Given the description of an element on the screen output the (x, y) to click on. 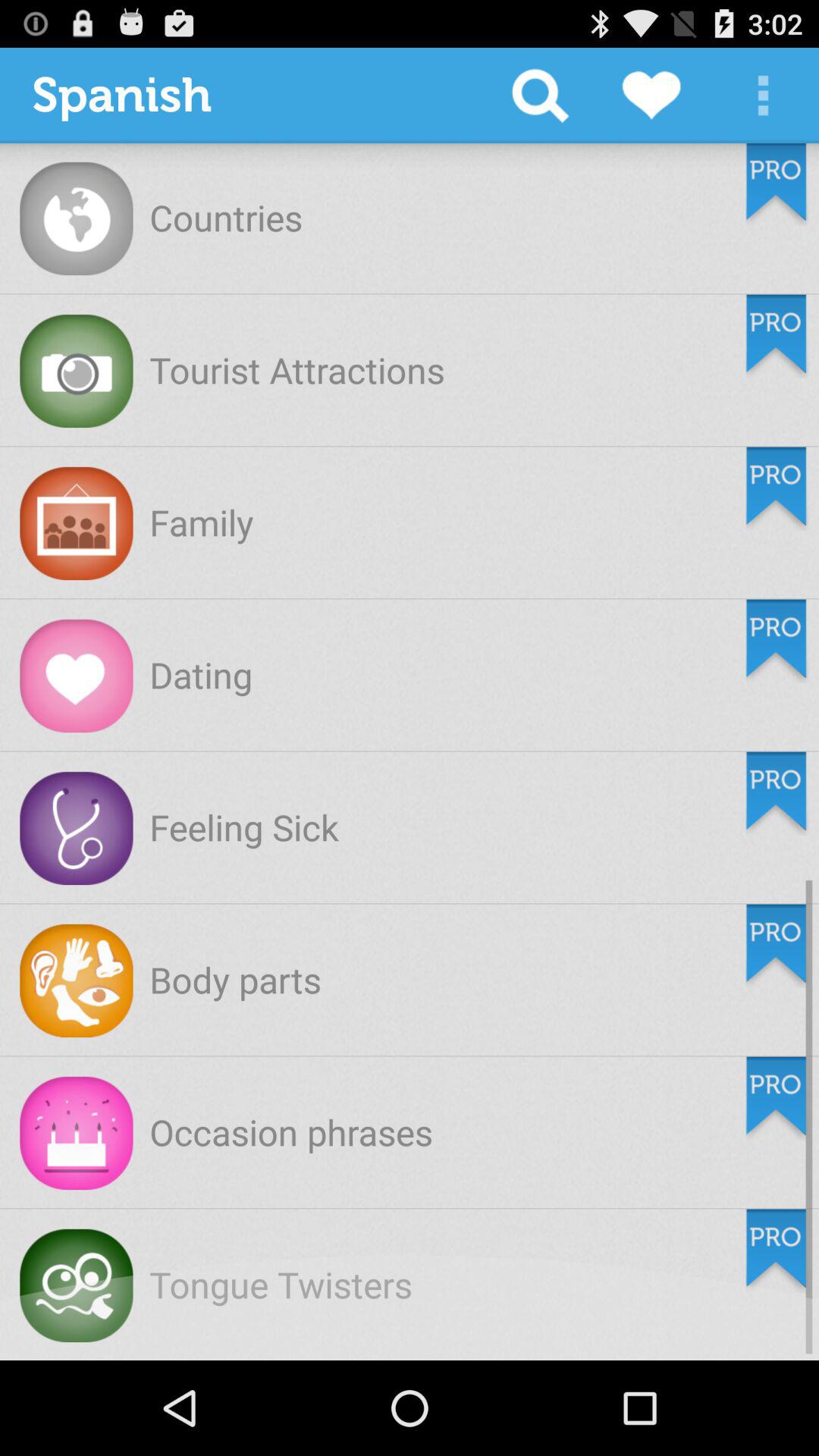
jump until the dating icon (200, 674)
